Given the description of an element on the screen output the (x, y) to click on. 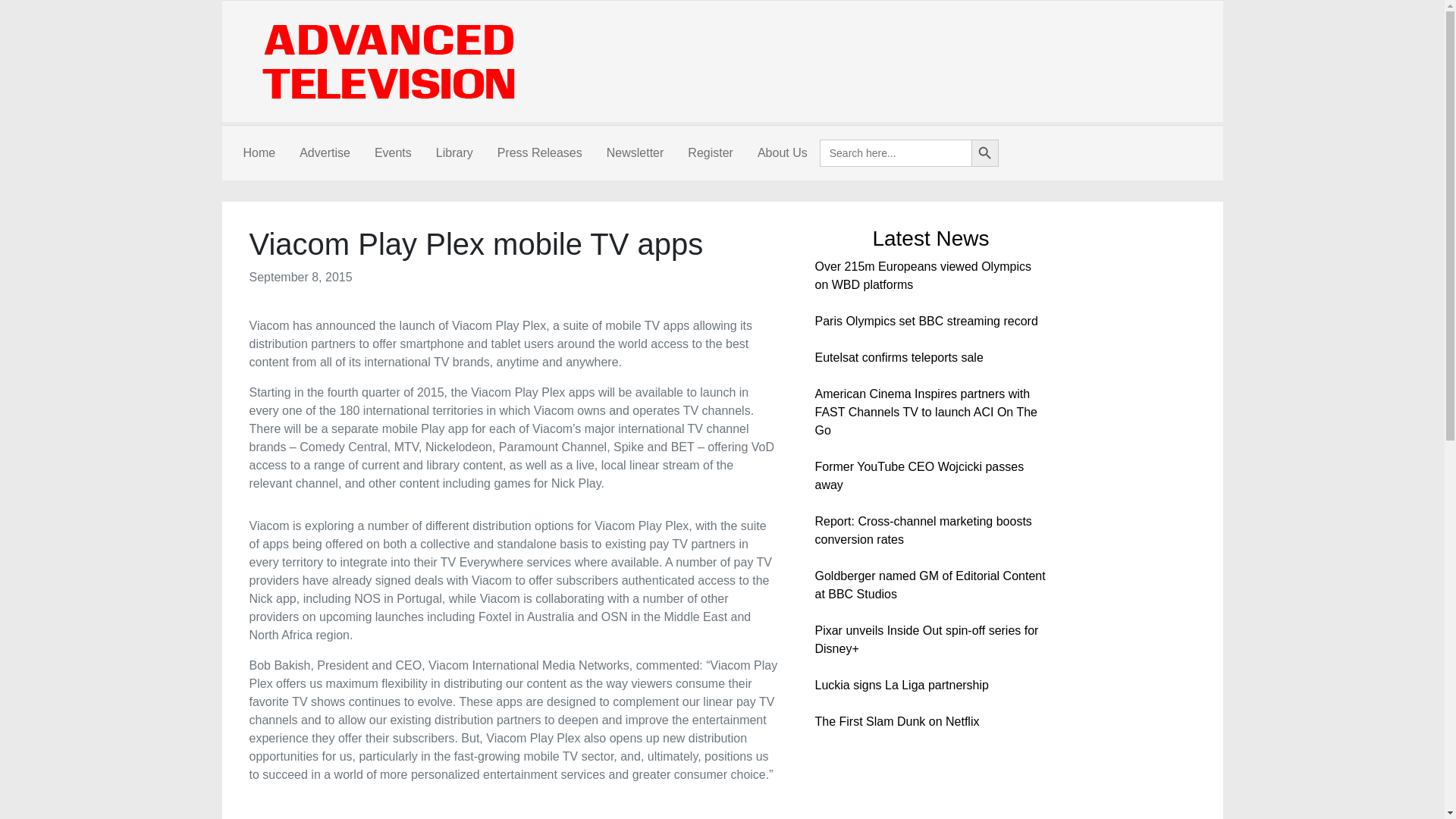
Goldberger named GM of Editorial Content at BBC Studios (929, 584)
Library (453, 153)
Events (392, 153)
Press Releases (539, 153)
Eutelsat confirms teleports sale (897, 357)
Over 215m Europeans viewed Olympics on WBD platforms (921, 275)
Register (710, 153)
Paris Olympics set BBC streaming record (924, 320)
Search Button (984, 153)
